Given the description of an element on the screen output the (x, y) to click on. 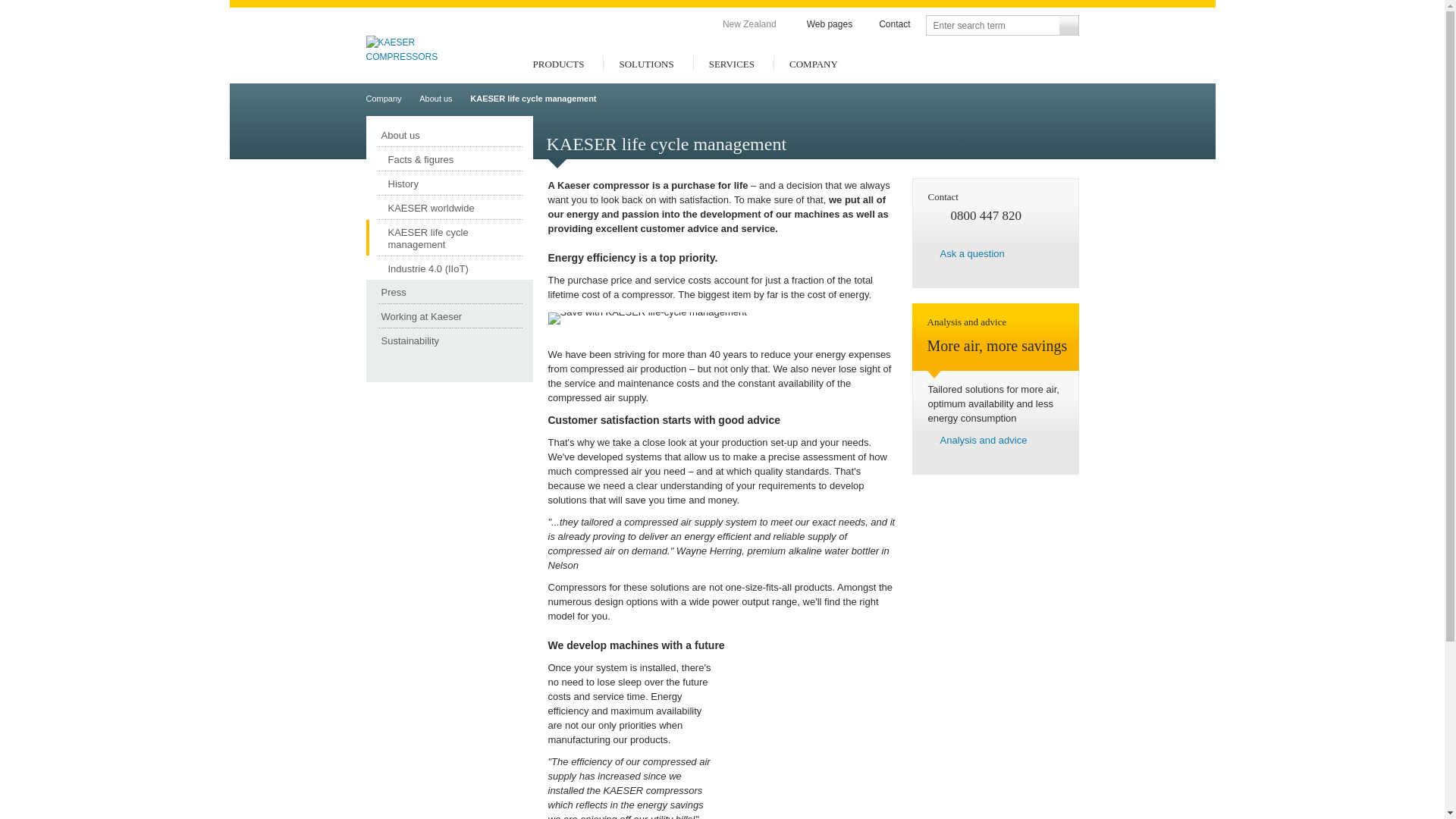
PRODUCTS (559, 69)
Enter search term (991, 25)
Save with KAESER life-cycle management (646, 318)
SERVICES (733, 69)
SOLUTIONS (648, 69)
